Given the description of an element on the screen output the (x, y) to click on. 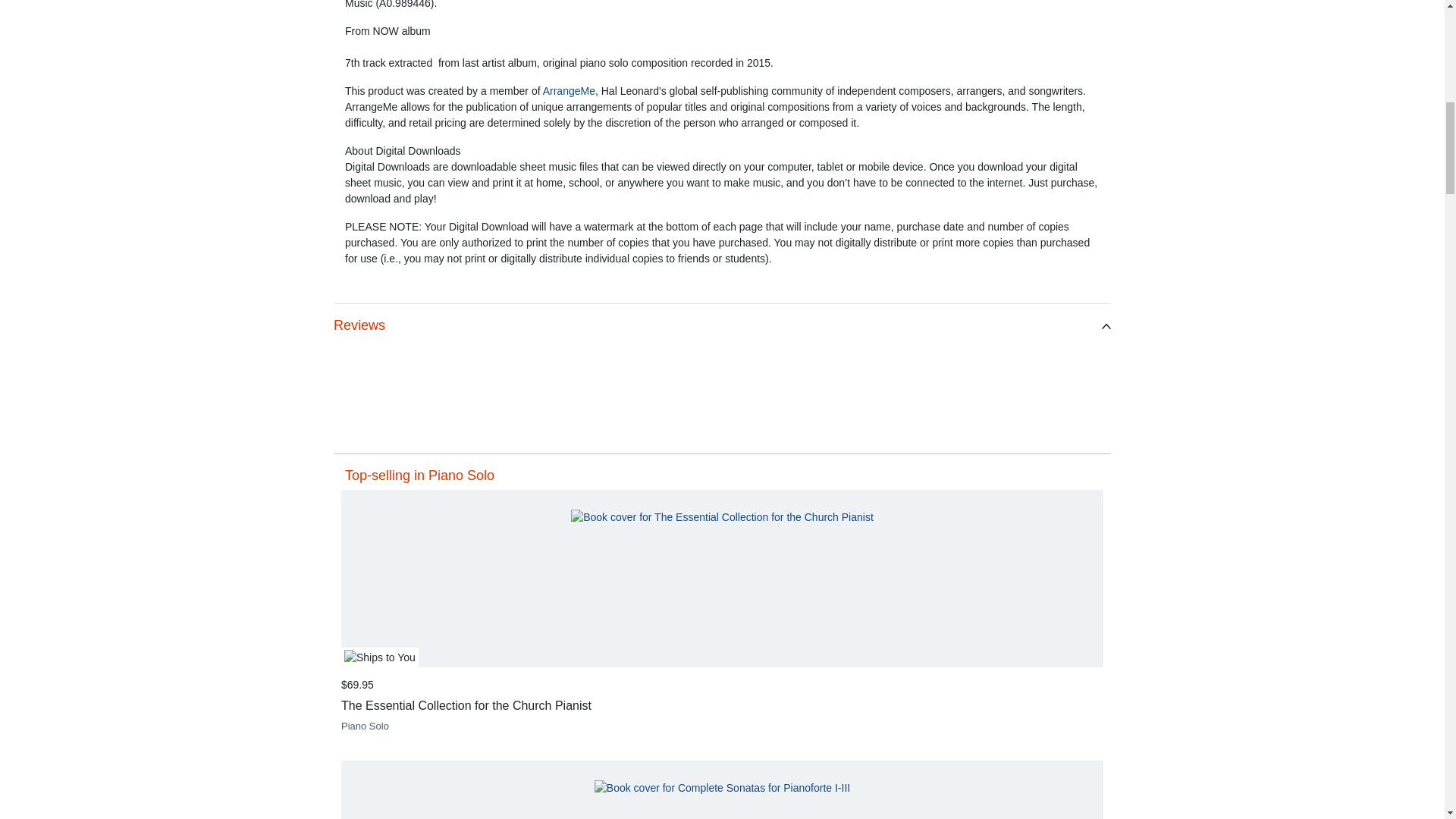
Book cover for Complete Sonatas for Pianoforte I-III (722, 788)
